Given the description of an element on the screen output the (x, y) to click on. 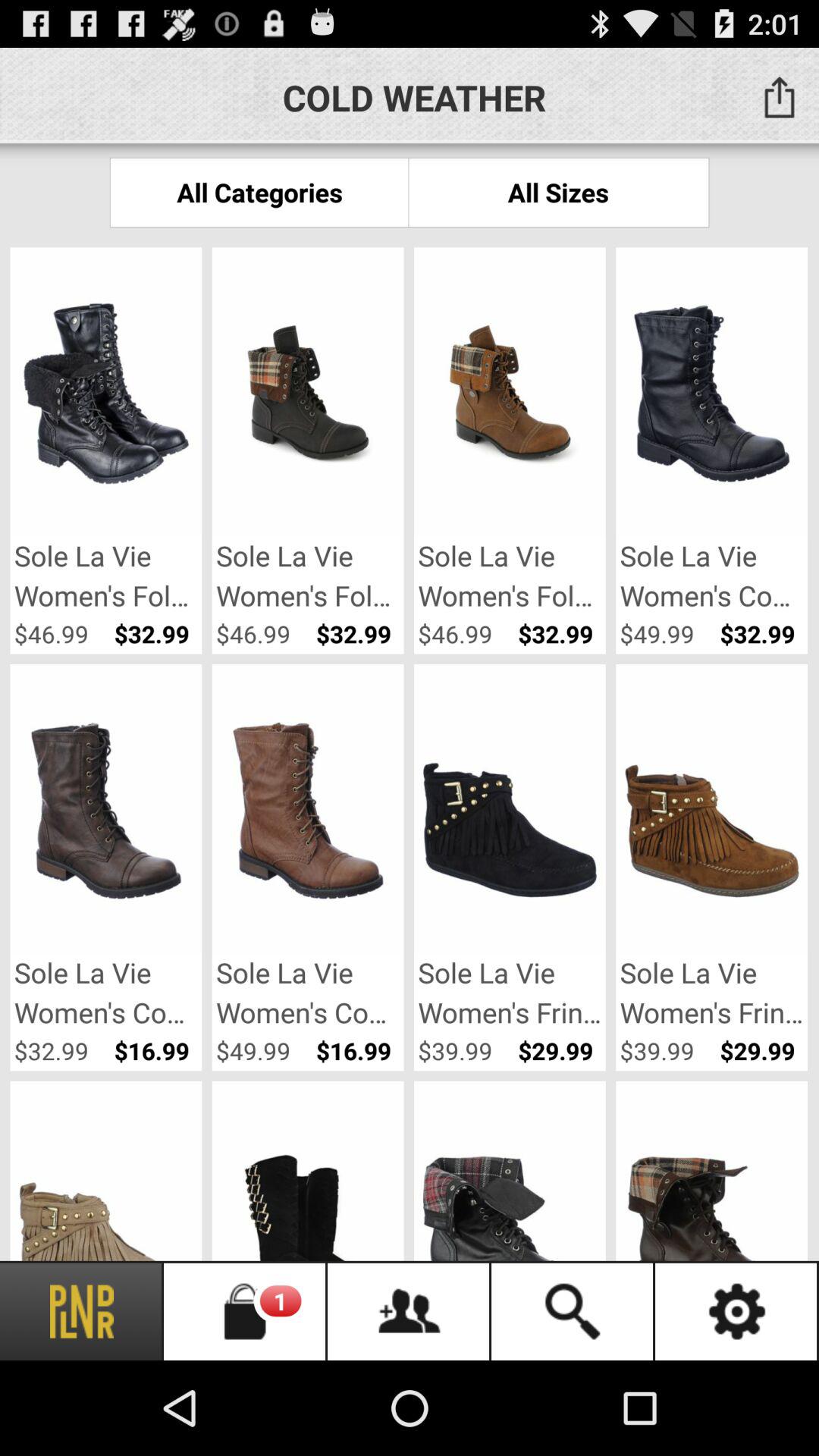
flip until all categories (259, 192)
